Given the description of an element on the screen output the (x, y) to click on. 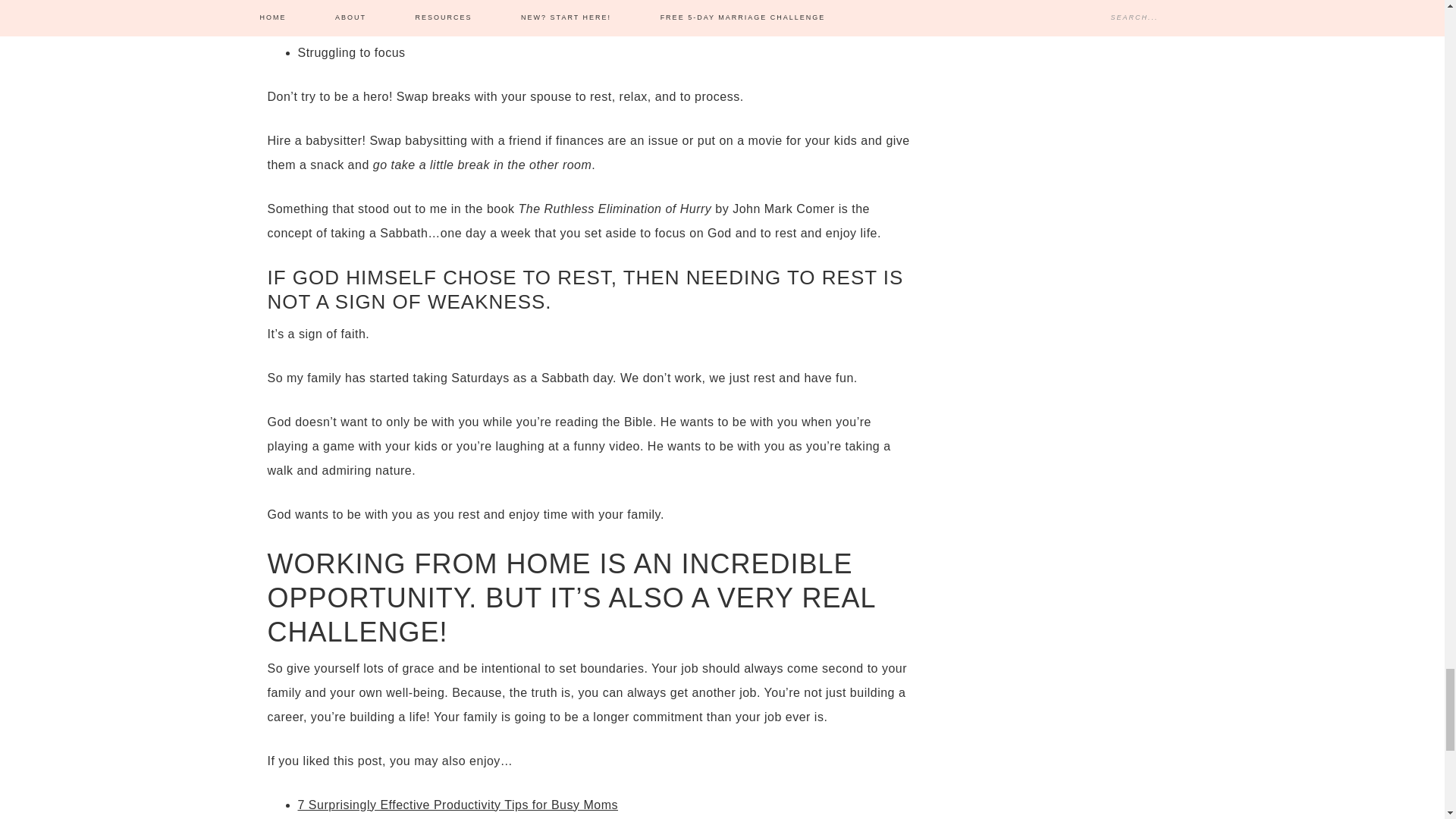
7 Surprisingly Effective Productivity Tips for Busy Moms (457, 804)
